Given the description of an element on the screen output the (x, y) to click on. 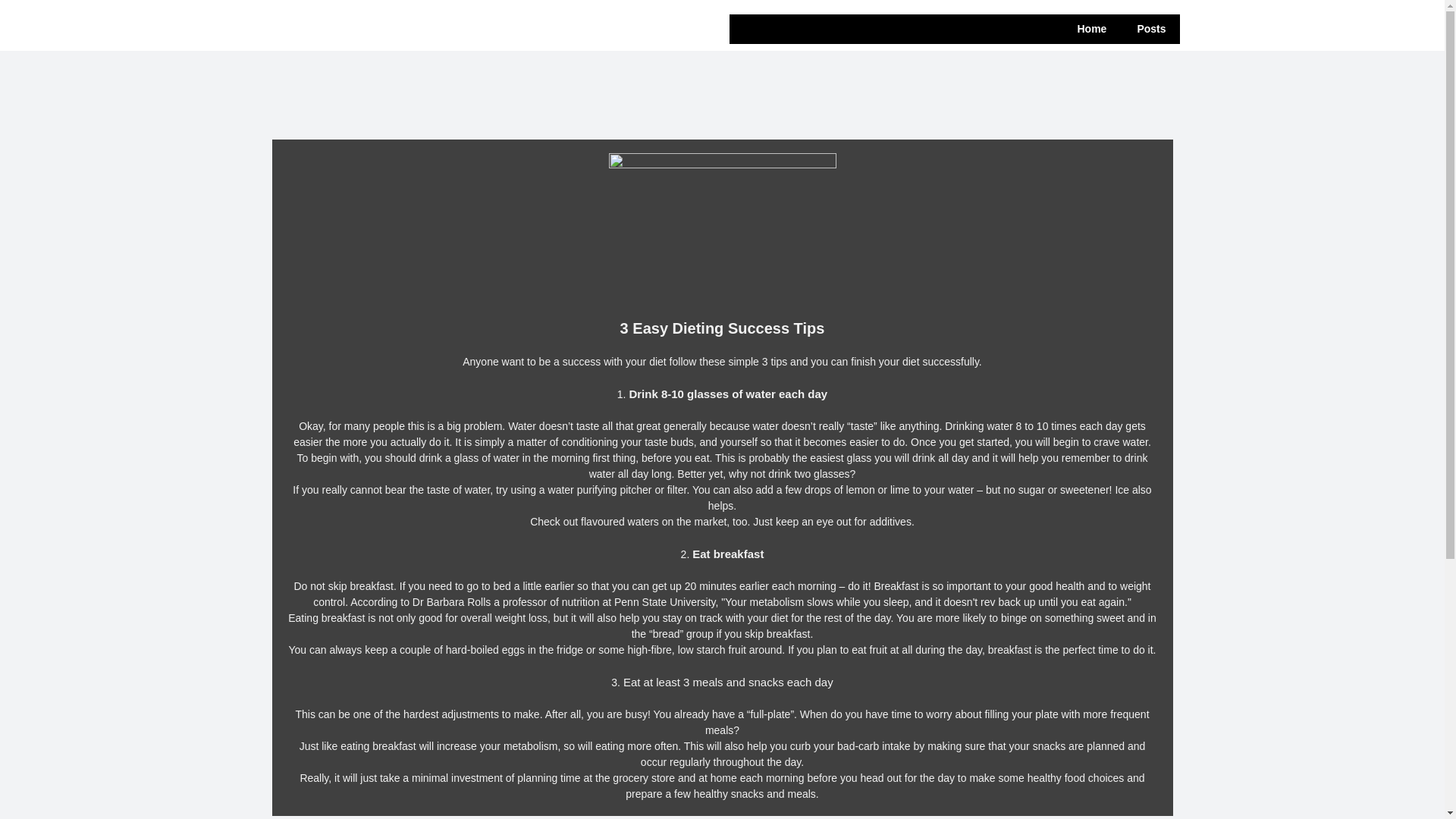
Home (1091, 28)
Posts (1151, 28)
